Given the description of an element on the screen output the (x, y) to click on. 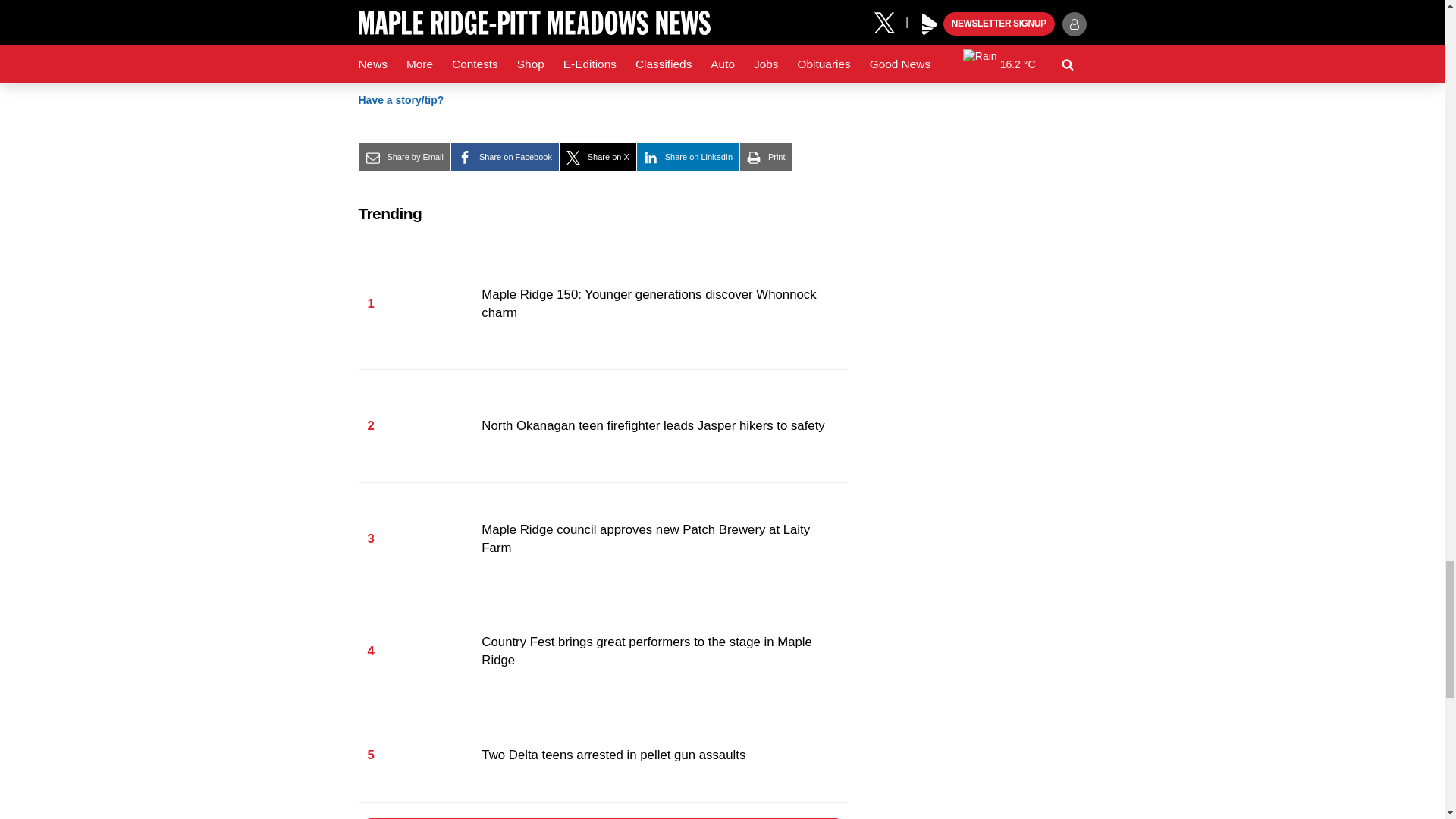
related story (599, 27)
